Given the description of an element on the screen output the (x, y) to click on. 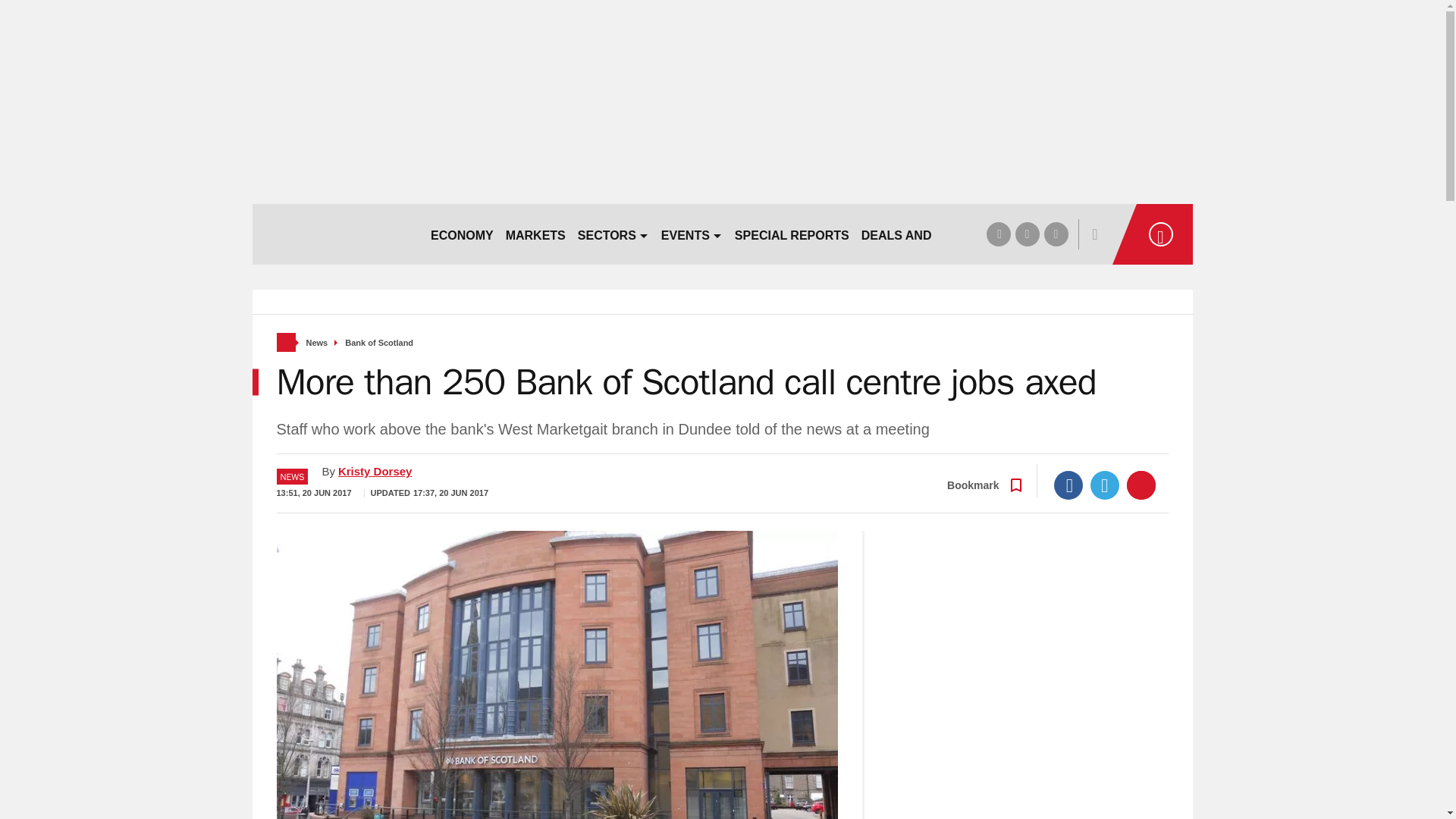
twitter (1026, 233)
Twitter (1104, 484)
SECTORS (613, 233)
businessInsider (333, 233)
facebook (997, 233)
MARKETS (535, 233)
linkedin (1055, 233)
ECONOMY (462, 233)
SPECIAL REPORTS (792, 233)
EVENTS (692, 233)
DEALS AND DEALMAKERS (941, 233)
Facebook (1068, 484)
